Given the description of an element on the screen output the (x, y) to click on. 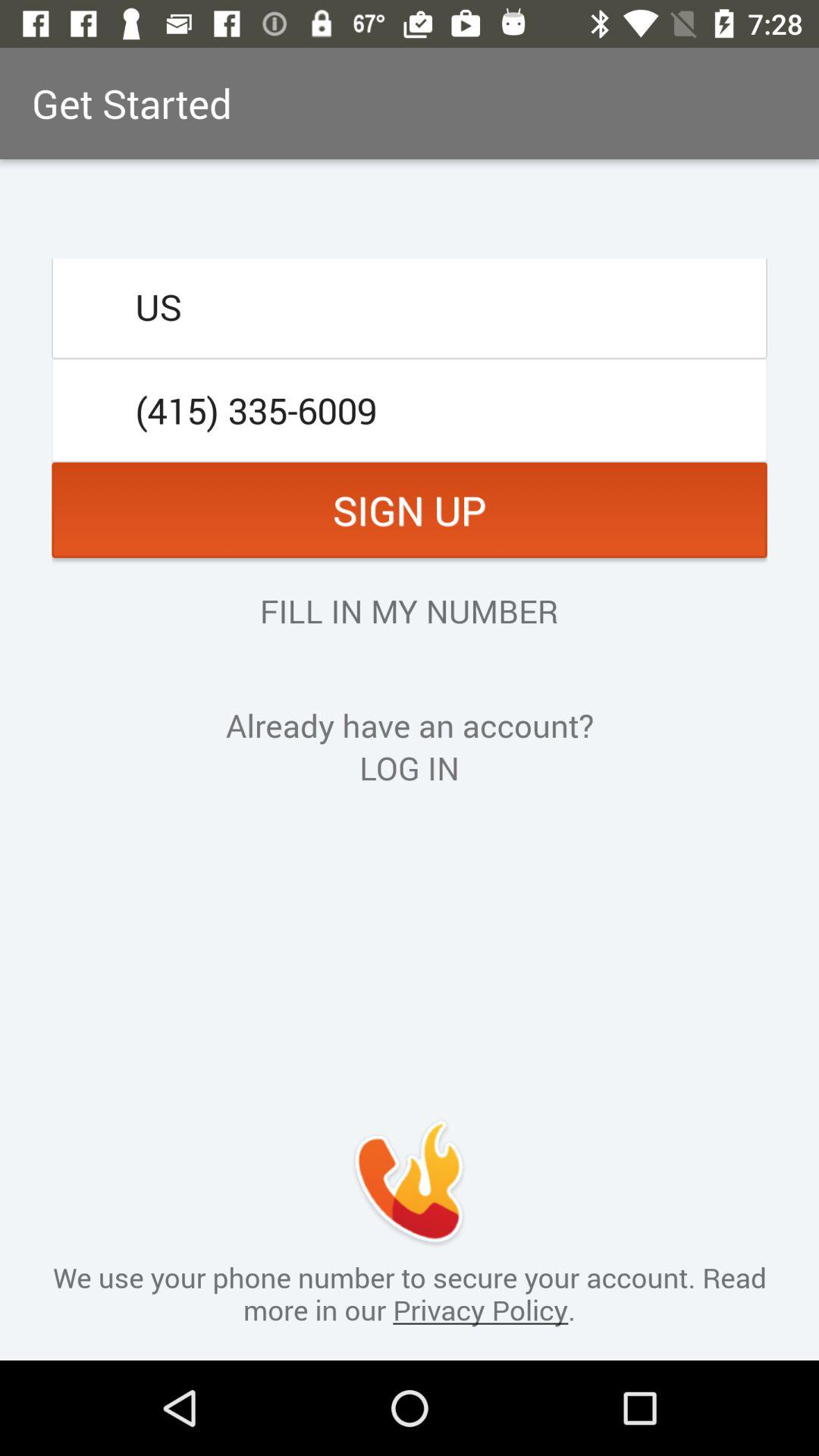
jump until the fill in my item (408, 610)
